Given the description of an element on the screen output the (x, y) to click on. 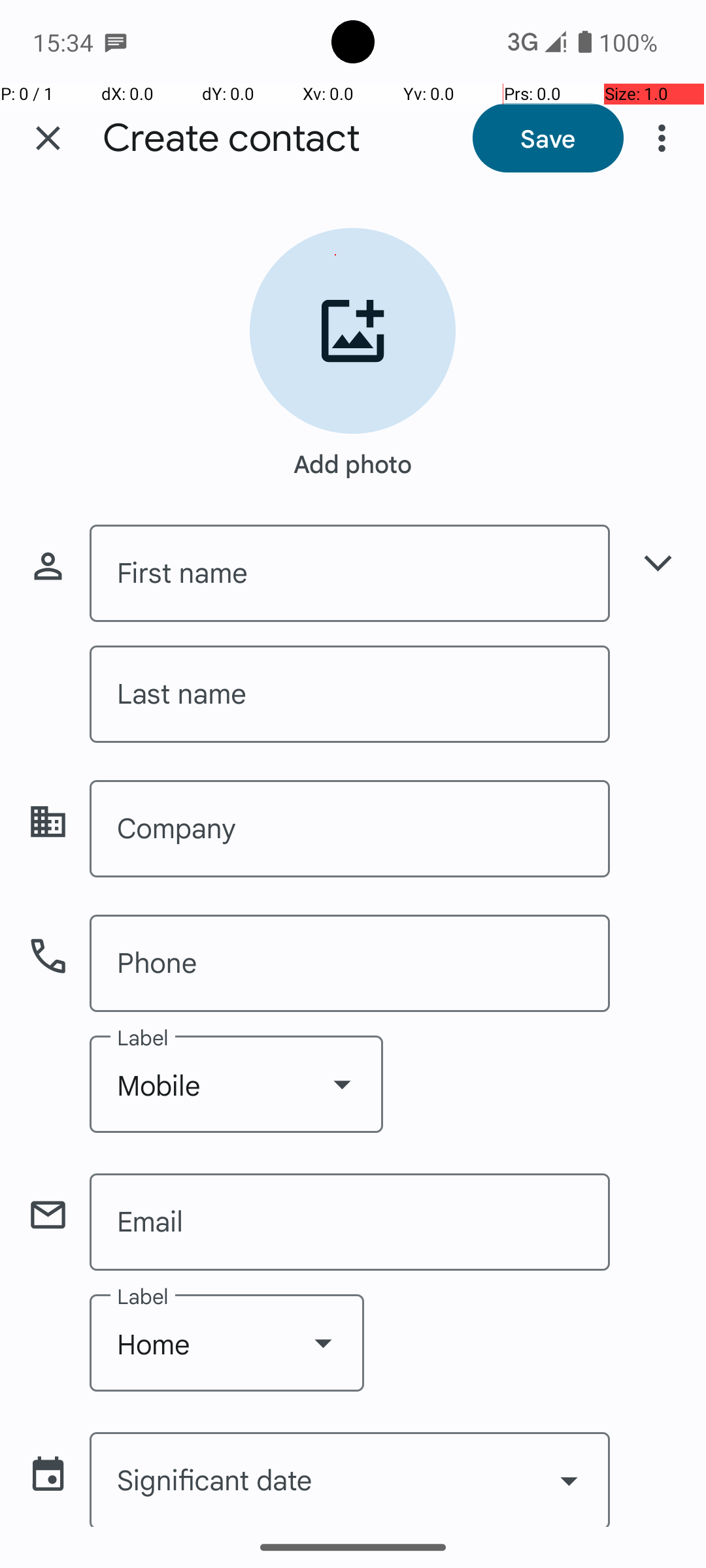
First name Element type: android.widget.EditText (349, 572)
Last name Element type: android.widget.EditText (349, 693)
Mobile Element type: android.widget.Spinner (236, 1083)
Show dropdown menu Element type: android.widget.ImageButton (341, 1083)
Email Element type: android.widget.EditText (349, 1221)
Significant date Element type: android.widget.EditText (349, 1479)
Show date picker Element type: android.widget.ImageButton (568, 1480)
Add contact photo Element type: android.widget.ImageView (352, 330)
Add photo Element type: android.widget.TextView (352, 456)
Show more name fields Element type: android.widget.ImageView (657, 562)
